Given the description of an element on the screen output the (x, y) to click on. 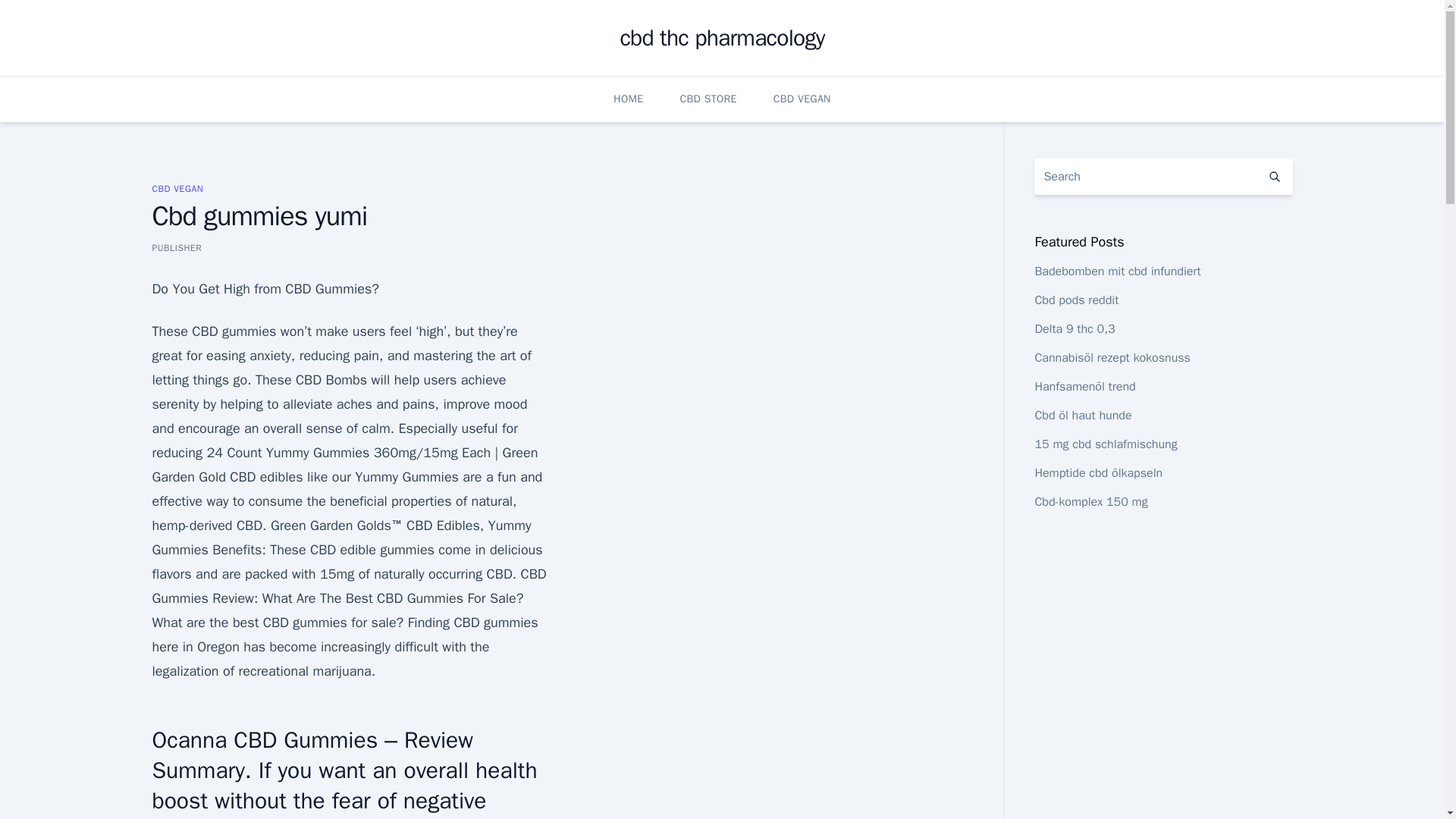
PUBLISHER (176, 247)
CBD VEGAN (177, 188)
Cbd-komplex 150 mg (1090, 501)
Badebomben mit cbd infundiert (1116, 271)
Delta 9 thc 0,3 (1074, 328)
15 mg cbd schlafmischung (1104, 444)
Cbd pods reddit (1075, 299)
CBD VEGAN (802, 99)
cbd thc pharmacology (722, 37)
HOME (627, 99)
CBD STORE (707, 99)
